Given the description of an element on the screen output the (x, y) to click on. 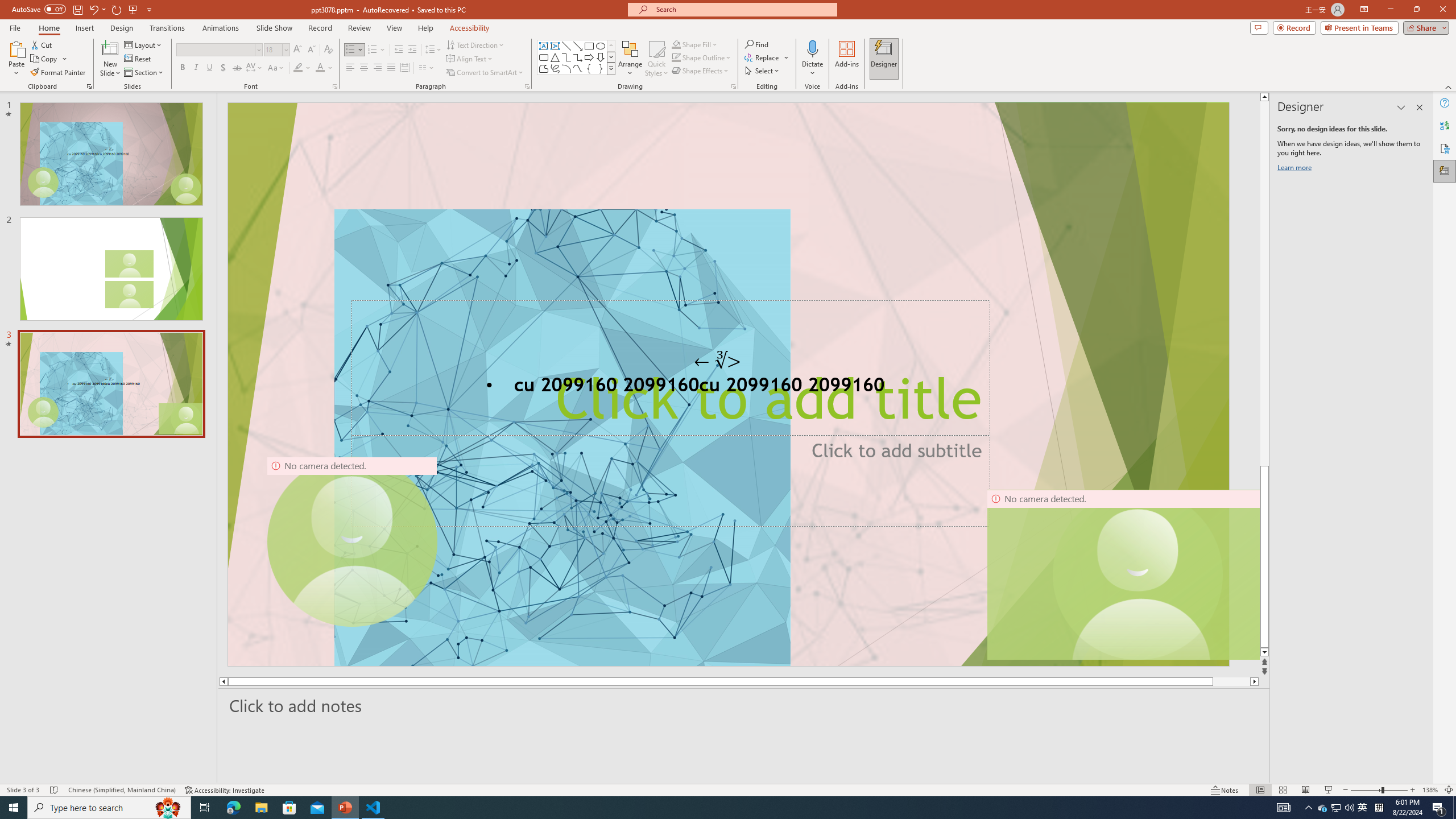
Shape Fill Dark Green, Accent 2 (675, 44)
Shape Outline Green, Accent 1 (675, 56)
